Given the description of an element on the screen output the (x, y) to click on. 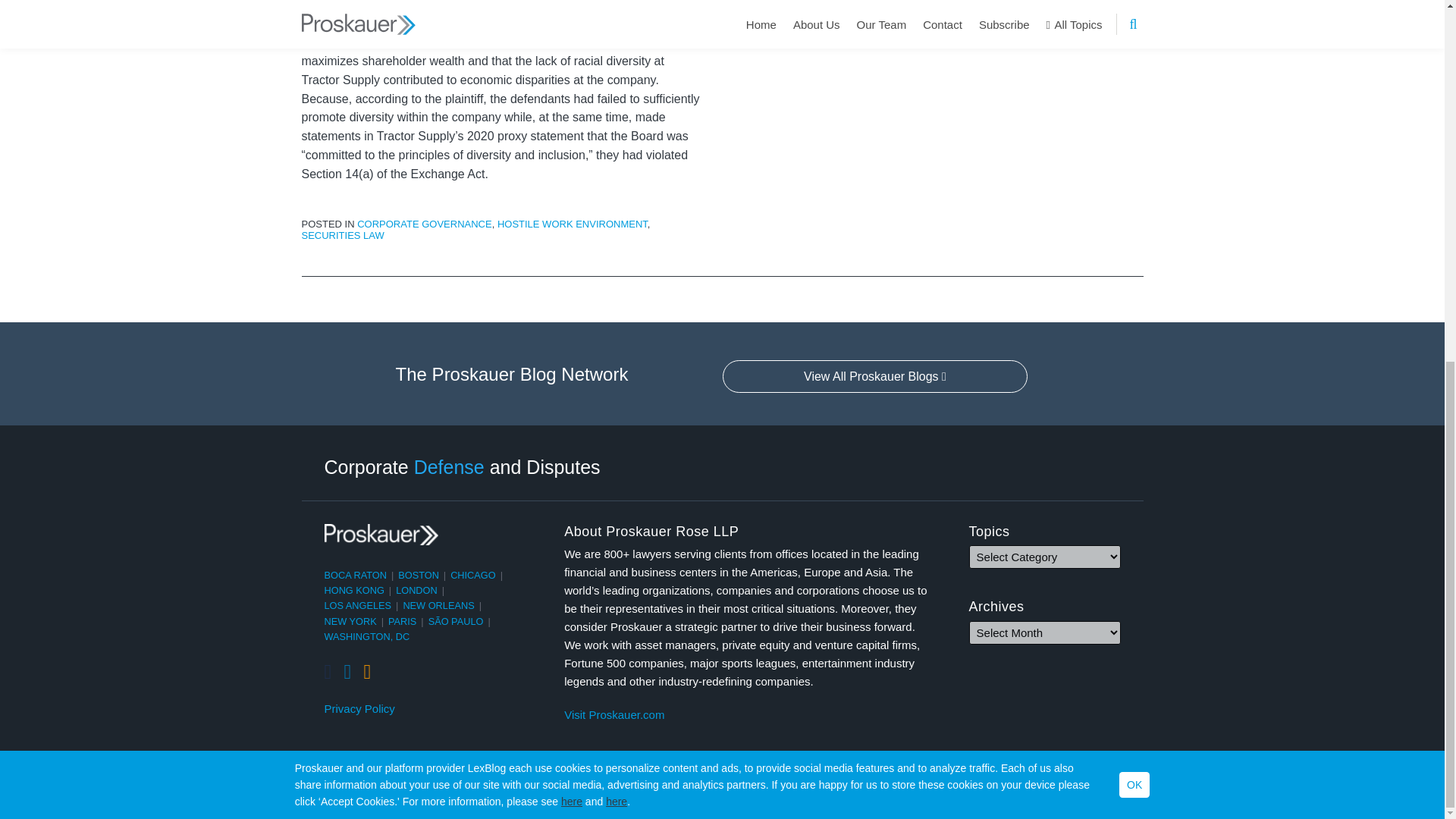
NEW ORLEANS (438, 604)
LOS ANGELES (357, 604)
here (616, 156)
PARIS (402, 621)
BOCA RATON (355, 574)
WASHINGTON, DC (367, 636)
HONG KONG (354, 590)
OK (1134, 140)
LONDON (417, 590)
Privacy Policy (359, 709)
NEW YORK (350, 621)
CORPORATE GOVERNANCE (424, 224)
View All Proskauer Blogs (874, 376)
LexBlog Logo (1131, 793)
BOSTON (418, 574)
